Given the description of an element on the screen output the (x, y) to click on. 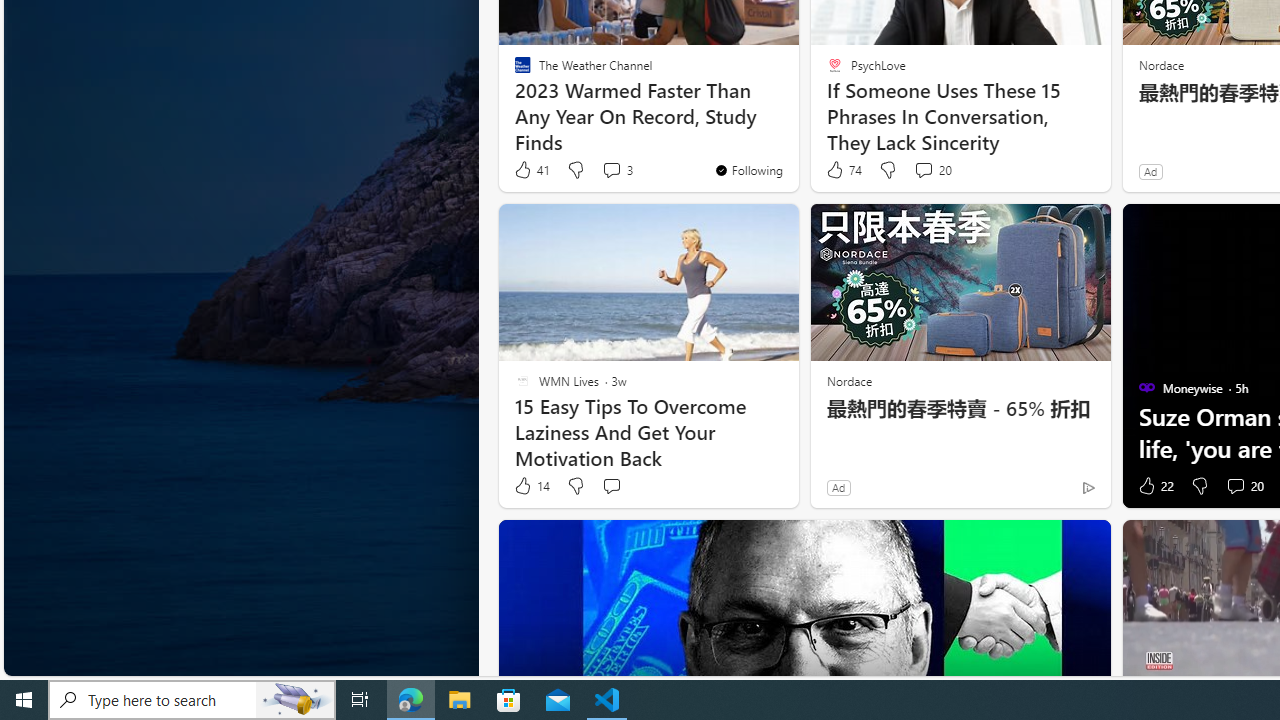
You're following The Weather Channel (747, 169)
